Given the description of an element on the screen output the (x, y) to click on. 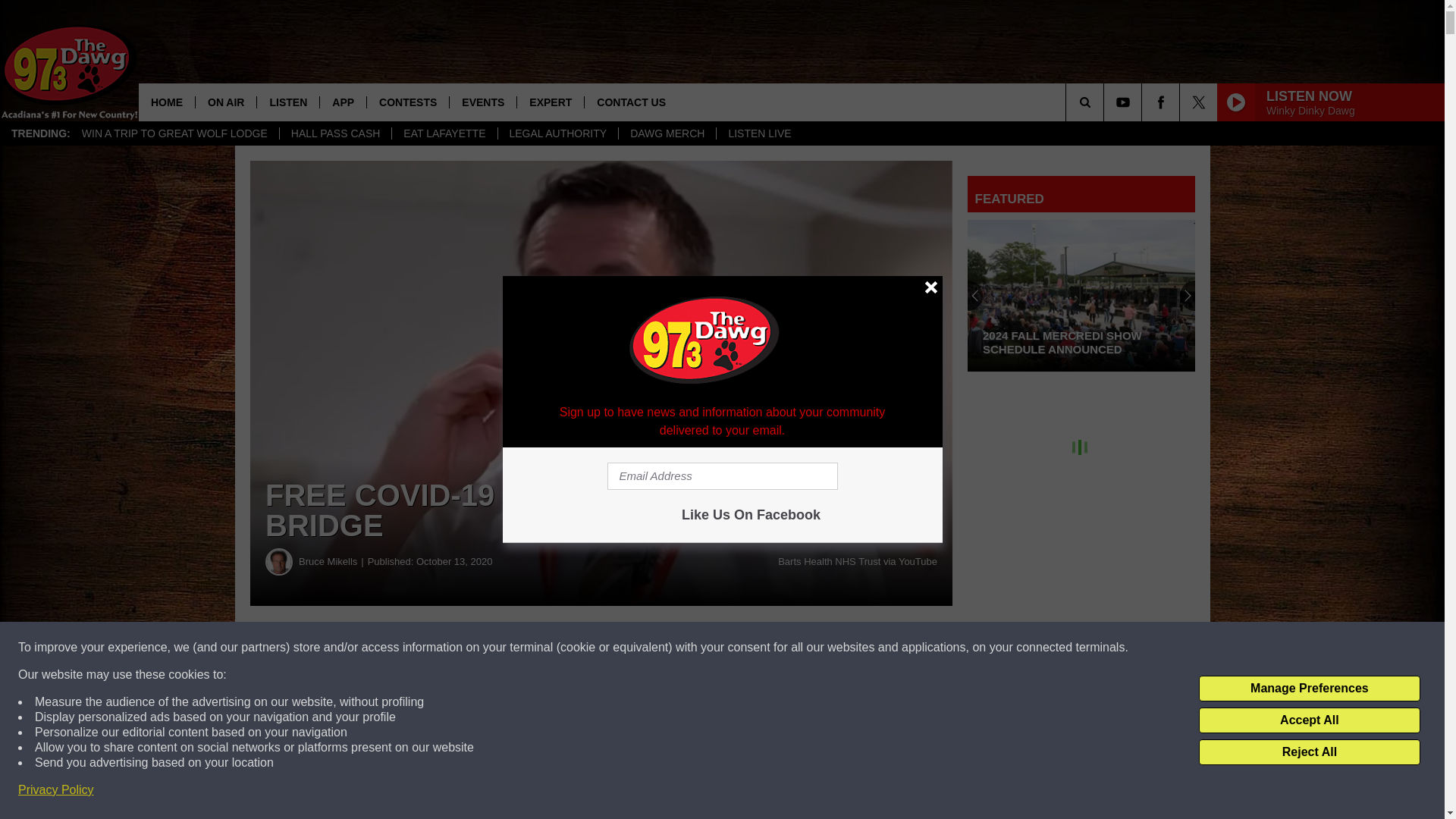
Accept All (1309, 720)
LISTEN LIVE (759, 133)
EAT LAFAYETTE (443, 133)
WIN A TRIP TO GREAT WOLF LODGE (174, 133)
HOME (166, 102)
SEARCH (1106, 102)
APP (342, 102)
Manage Preferences (1309, 688)
Share on Facebook (460, 647)
Email Address (722, 475)
SEARCH (1106, 102)
LEGAL AUTHORITY (557, 133)
CONTESTS (407, 102)
HALL PASS CASH (335, 133)
EVENTS (482, 102)
